Given the description of an element on the screen output the (x, y) to click on. 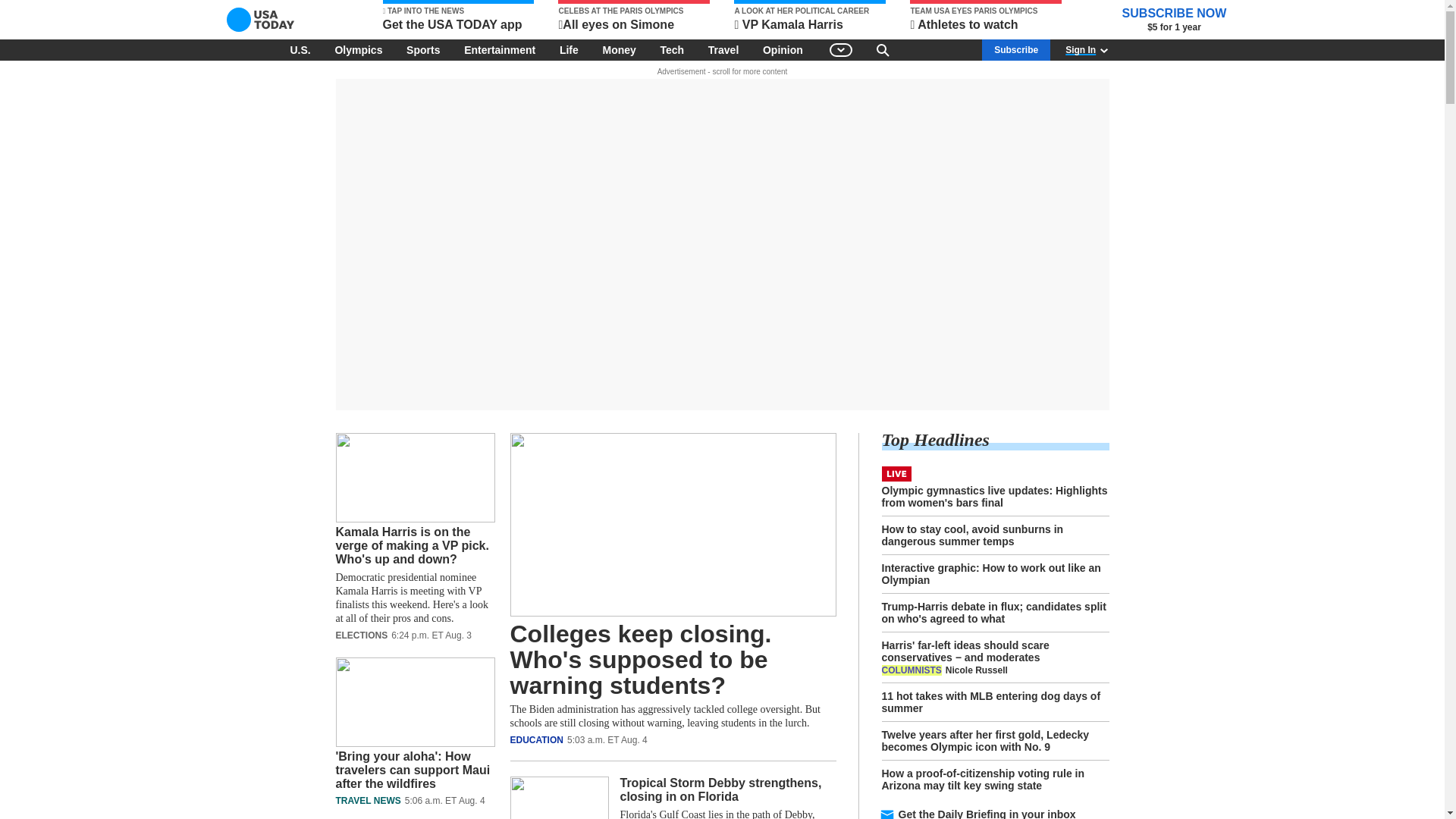
Search (882, 49)
Tech (671, 49)
Money (618, 49)
Entertainment (500, 49)
Travel (722, 49)
Get the USA TODAY app (457, 17)
Olympics (358, 49)
Sports (422, 49)
Opinion (782, 49)
U.S. (299, 49)
Life (568, 49)
